Given the description of an element on the screen output the (x, y) to click on. 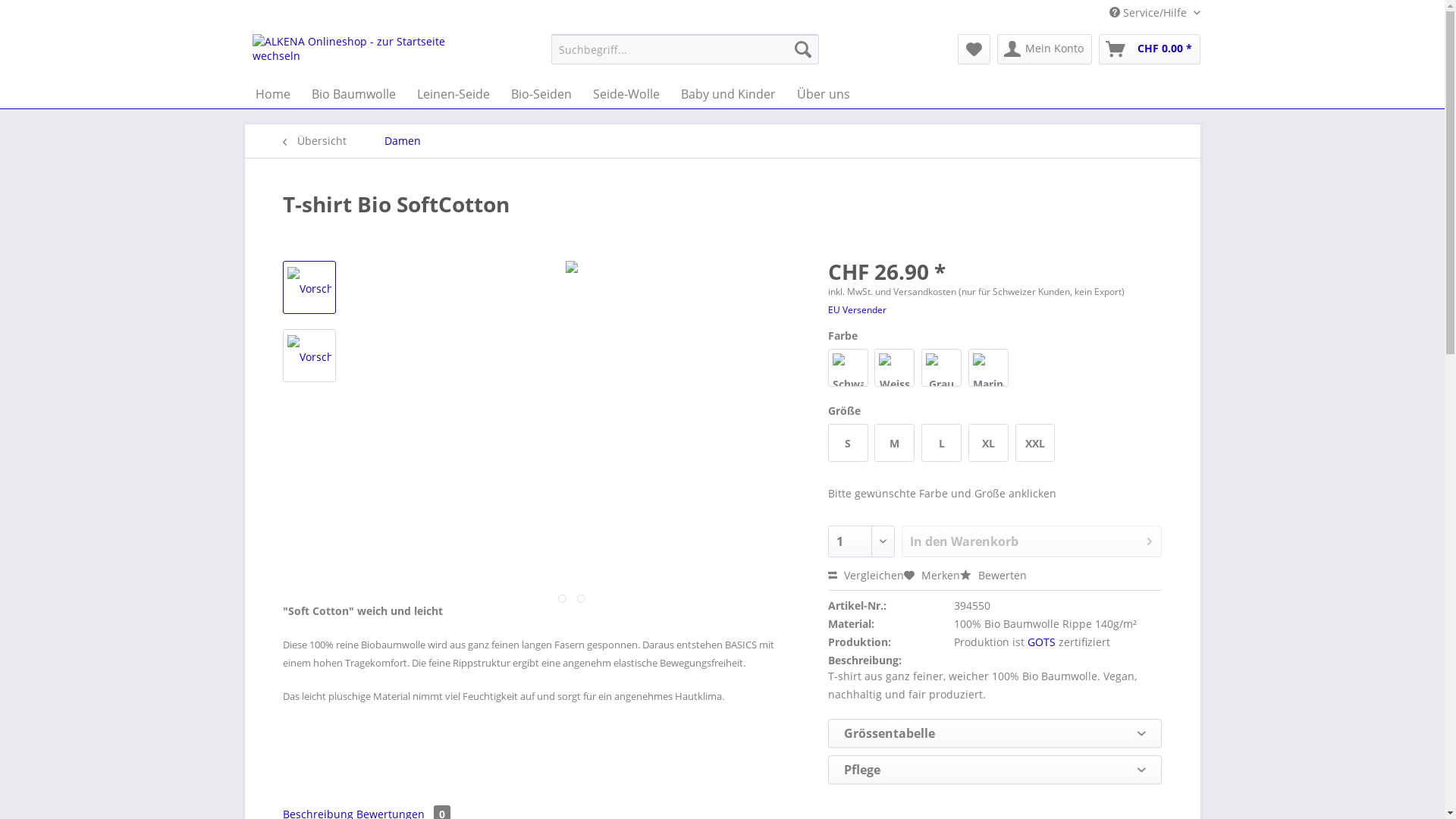
In den Warenkorb Element type: text (1031, 541)
  Element type: text (562, 598)
GOTS Element type: text (1041, 641)
Home Element type: text (272, 93)
ALKENA Onlineshop - zur Startseite wechseln Element type: hover (365, 53)
Seide-Wolle Element type: text (626, 93)
Mein Konto Element type: text (1043, 49)
Damen Element type: text (401, 140)
Merken Element type: text (931, 574)
Vorschau: T-shirt Bio SoftCotton Element type: hover (308, 355)
CHF 0.00 * Element type: text (1148, 49)
Baby und Kinder Element type: text (728, 93)
Vorschau: T-shirt Bio SoftCotton Element type: hover (308, 356)
Vorschau: T-shirt Bio SoftCotton Element type: hover (308, 288)
Bio-Seiden Element type: text (541, 93)
  Element type: text (581, 598)
Bewerten Element type: text (993, 574)
Vorschau: T-shirt Bio SoftCotton Element type: hover (308, 286)
EU Versender Element type: text (857, 309)
Vergleichen Element type: text (865, 574)
Bio Baumwolle Element type: text (352, 93)
Leinen-Seide Element type: text (453, 93)
Merkzettel Element type: hover (973, 49)
